Given the description of an element on the screen output the (x, y) to click on. 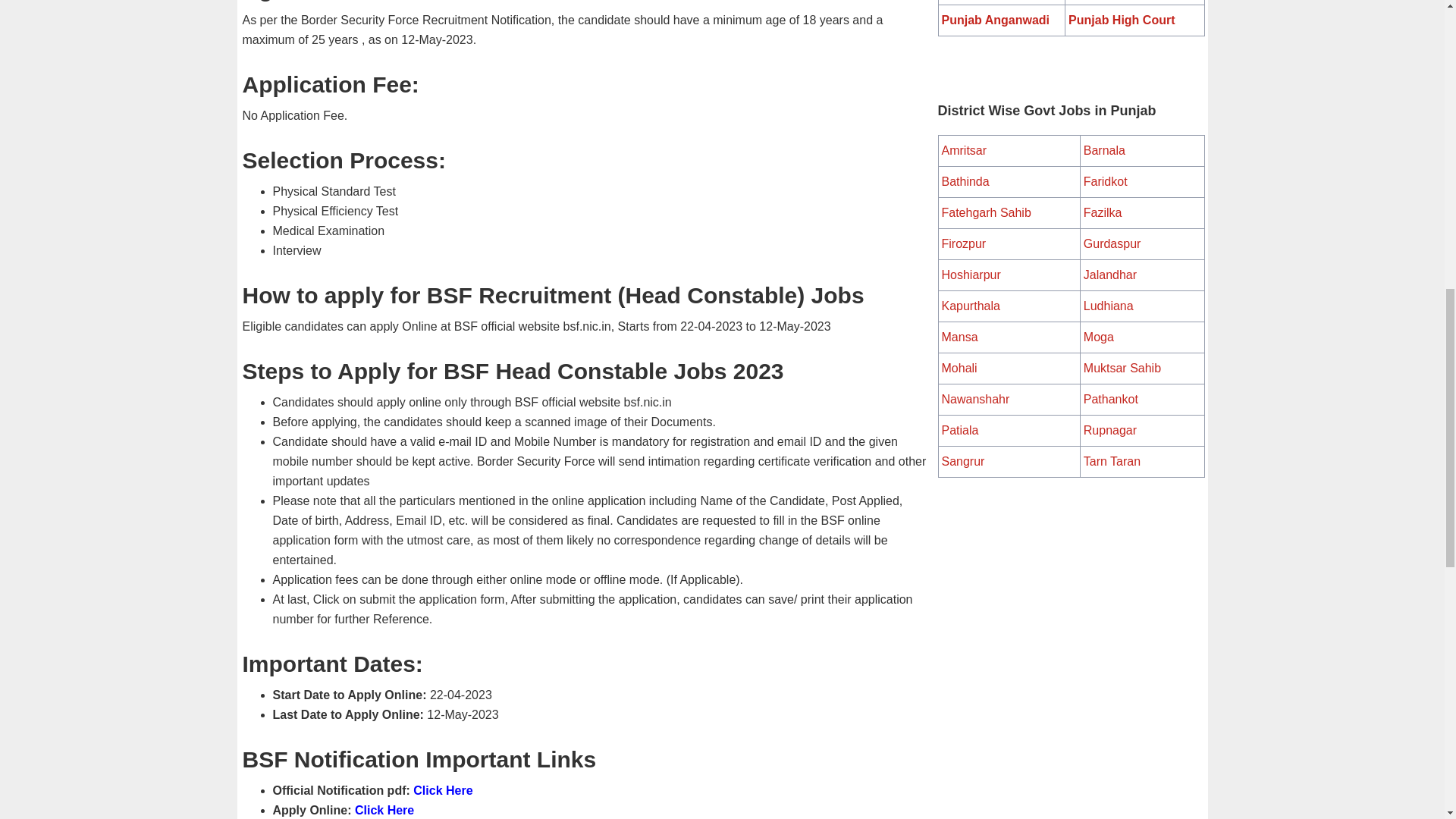
Punjab Anganwadi (995, 19)
Bathinda (966, 181)
Click Here (384, 809)
Faridkot (1104, 181)
Punjab High Court (1121, 19)
Click Here (442, 789)
Fatehgarh Sahib (986, 212)
Amritsar (964, 150)
Barnala (1104, 150)
